Given the description of an element on the screen output the (x, y) to click on. 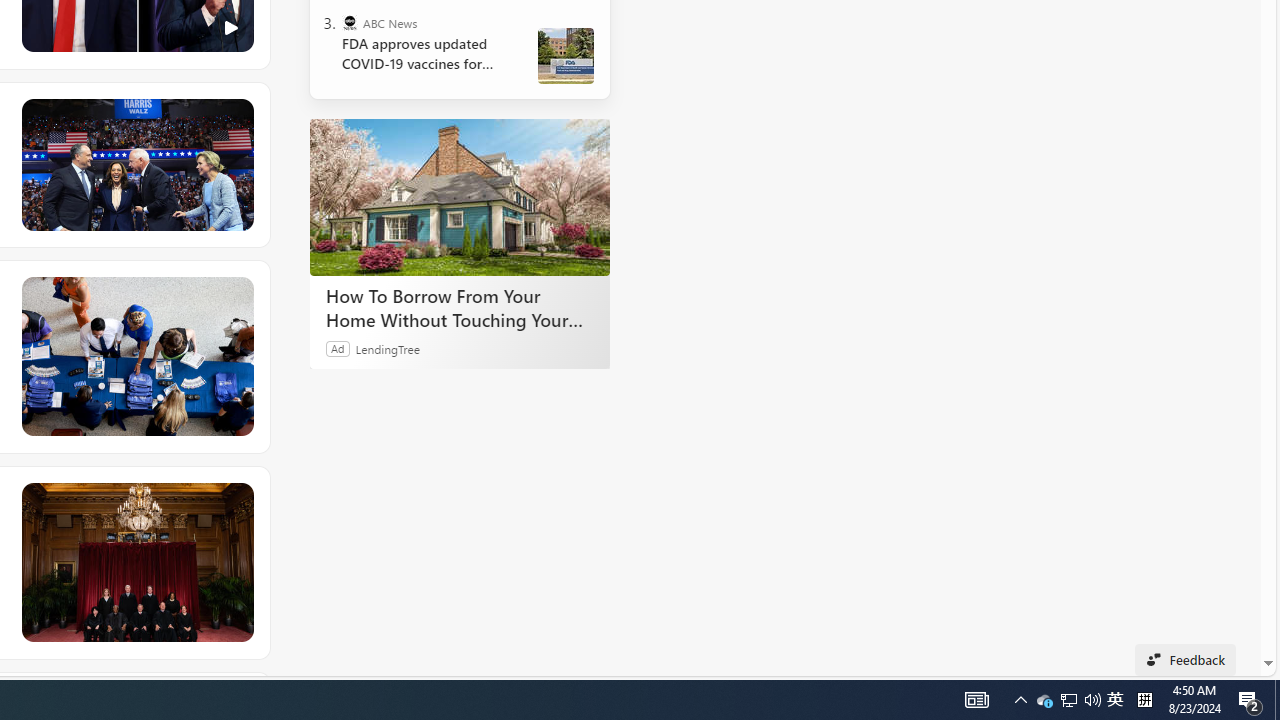
How To Borrow From Your Home Without Touching Your Mortgage (459, 307)
ABC News (349, 22)
How To Borrow From Your Home Without Touching Your Mortgage (459, 196)
See more (239, 497)
LendingTree (387, 348)
Ad (338, 348)
Feedback (1185, 659)
